Given the description of an element on the screen output the (x, y) to click on. 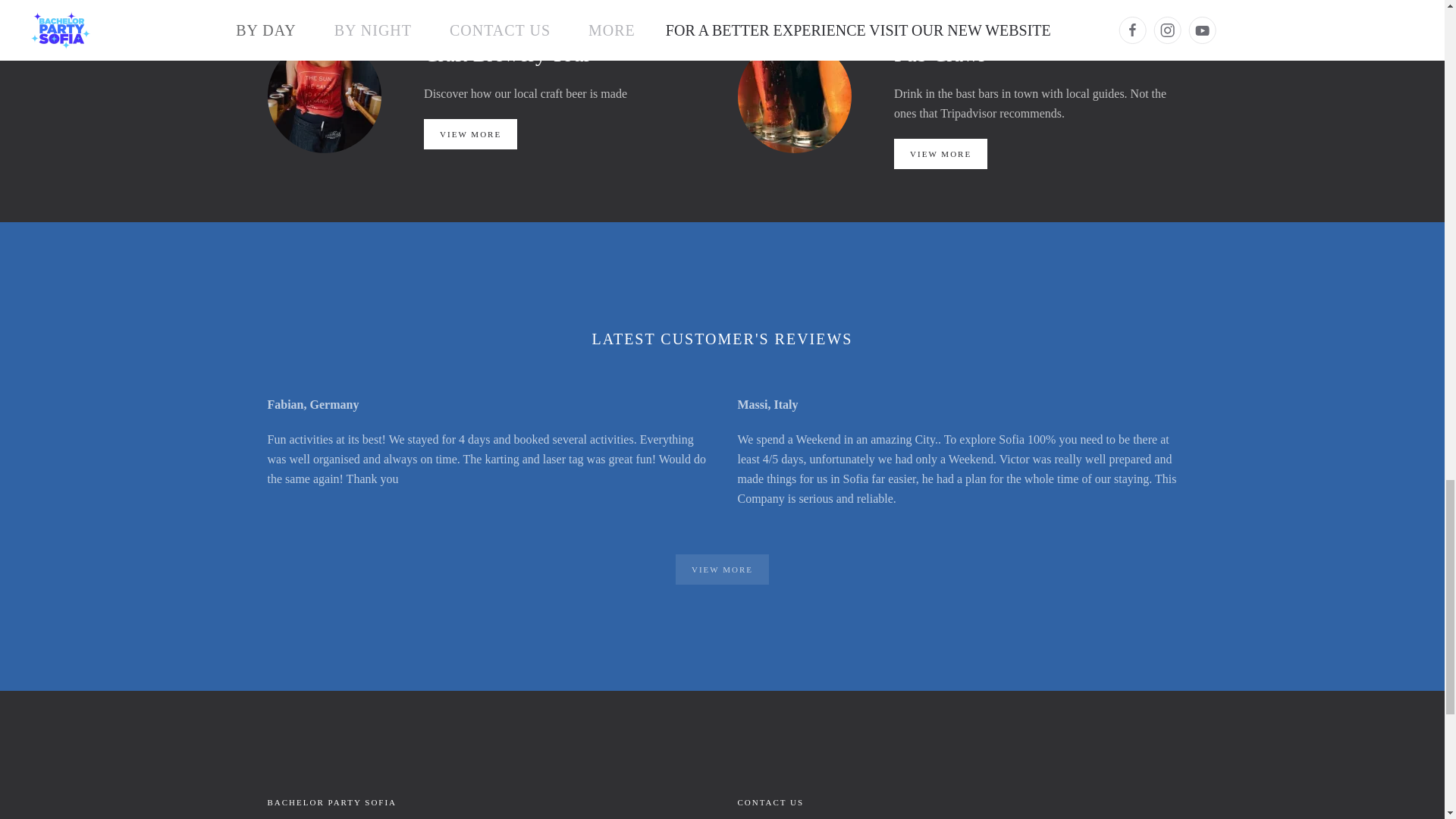
LATEST CUSTOMER'S REVIEWS (721, 338)
CONTACT US (769, 801)
quote (769, 801)
BACHELOR PARTY SOFIA (331, 801)
VIEW MORE (469, 133)
VIEW MORE (940, 153)
VIEW MORE (721, 569)
